Given the description of an element on the screen output the (x, y) to click on. 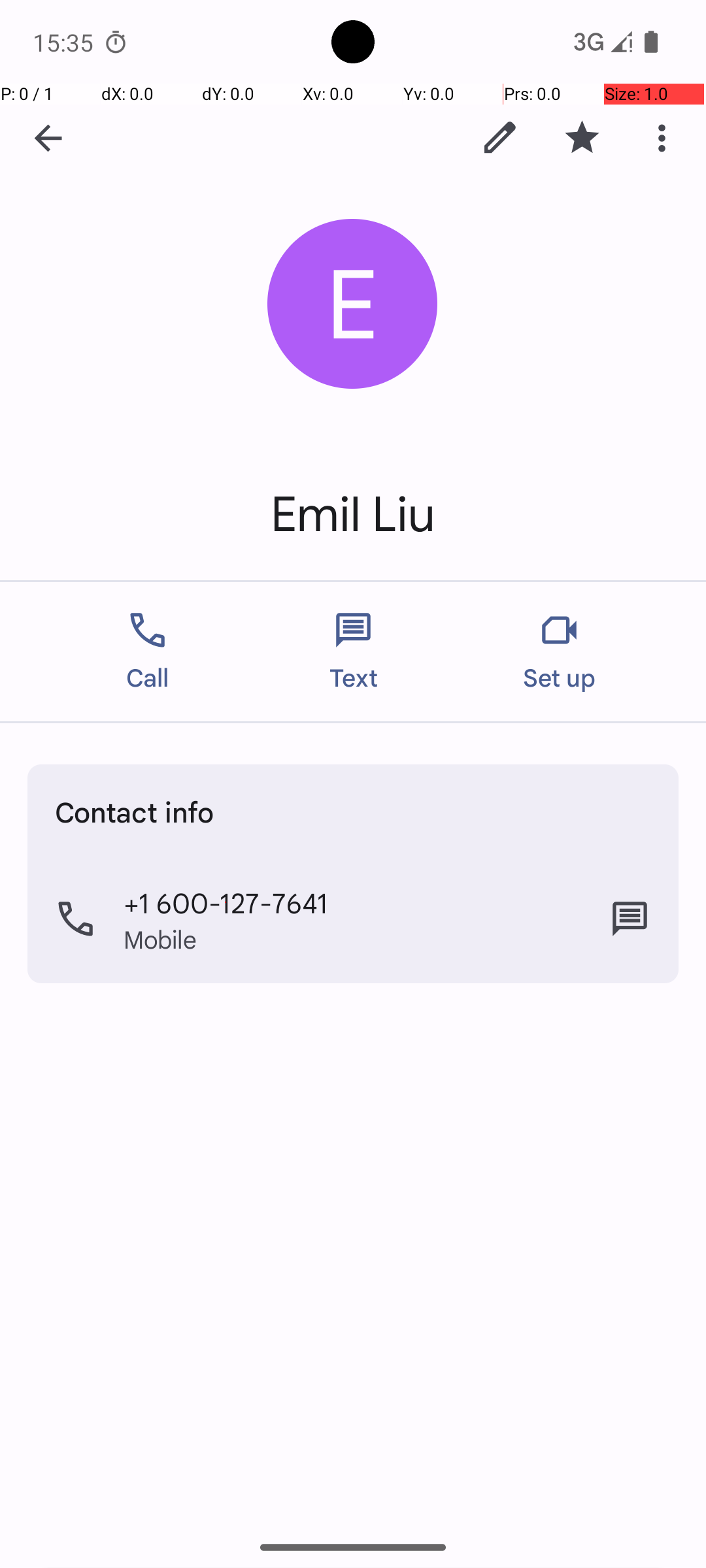
Emil Liu Element type: android.widget.TextView (352, 514)
Call Mobile +1 600-127-7641 Element type: android.widget.RelativeLayout (352, 919)
+1 600-127-7641 Element type: android.widget.TextView (225, 901)
Text Mobile +1 600-127-7641 Element type: android.widget.Button (629, 919)
